Given the description of an element on the screen output the (x, y) to click on. 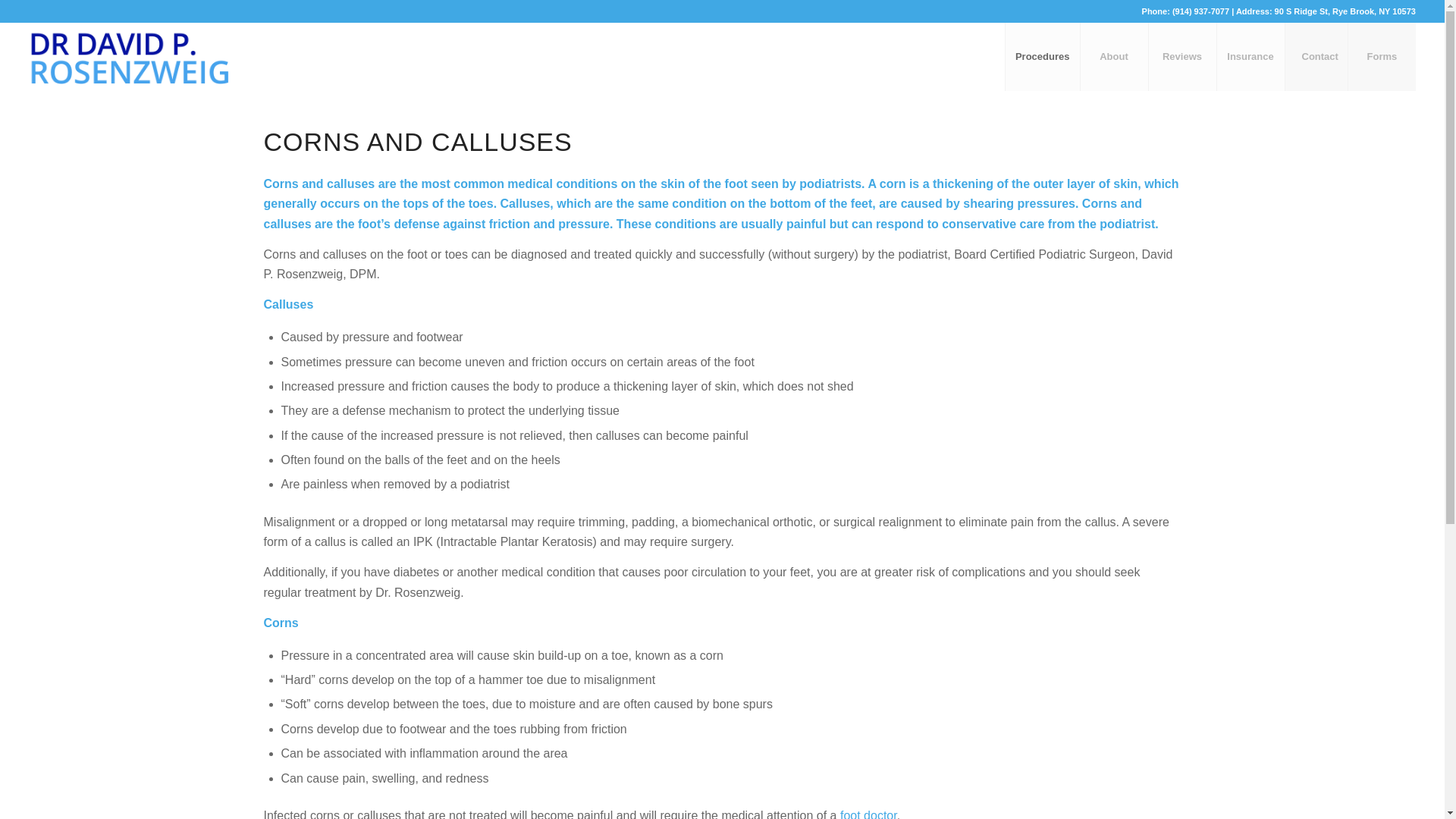
About (1114, 56)
foot doctor (868, 814)
Forms (1381, 56)
Contact (1319, 56)
Procedures (1042, 56)
Insurance (1249, 56)
Reviews (1181, 56)
